Given the description of an element on the screen output the (x, y) to click on. 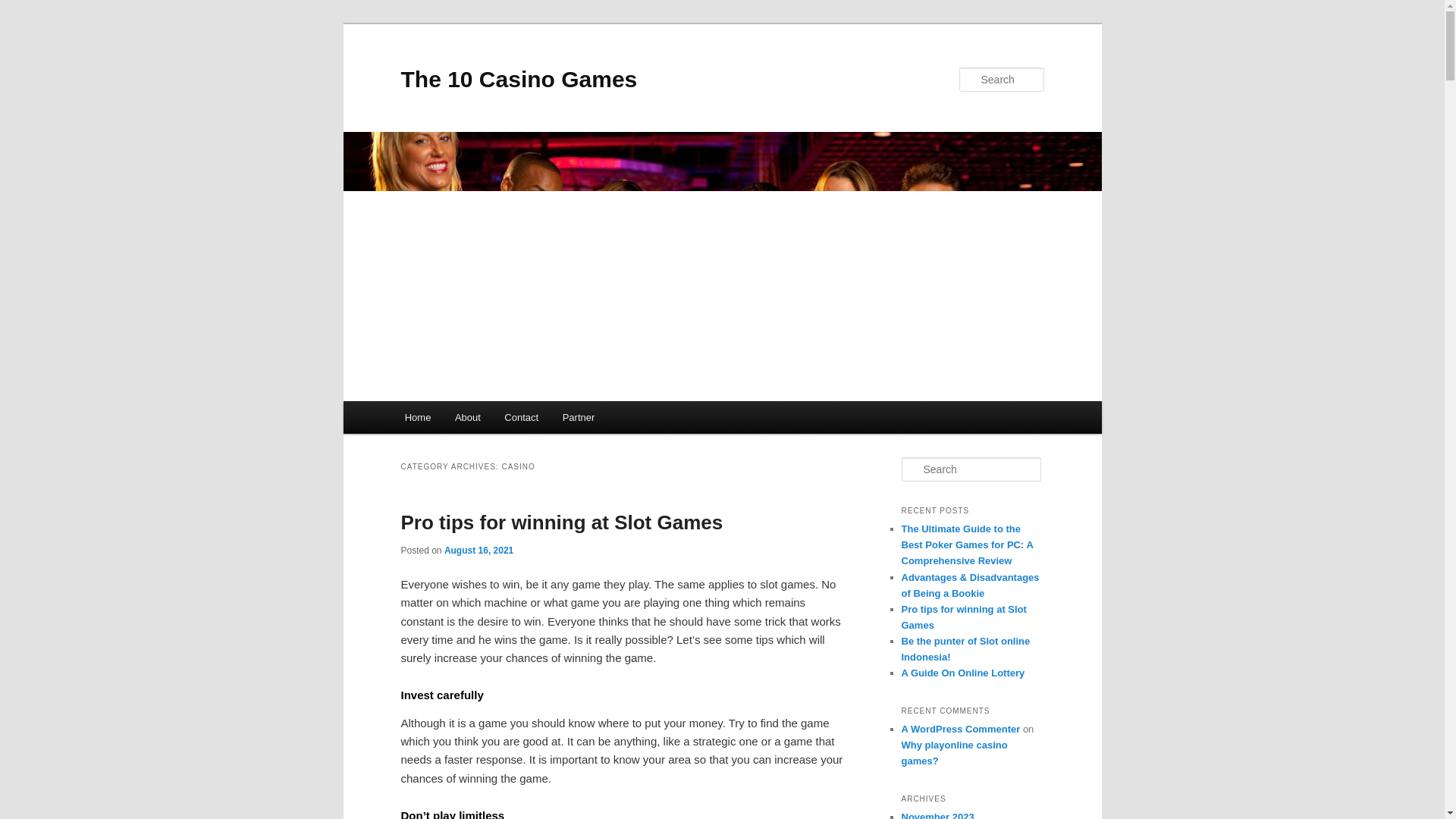
Contact (521, 417)
Pro tips for winning at Slot Games (561, 522)
About (467, 417)
The 10 Casino Games (518, 78)
Search (24, 8)
10:56 am (478, 550)
Home (417, 417)
August 16, 2021 (478, 550)
Partner (578, 417)
